Given the description of an element on the screen output the (x, y) to click on. 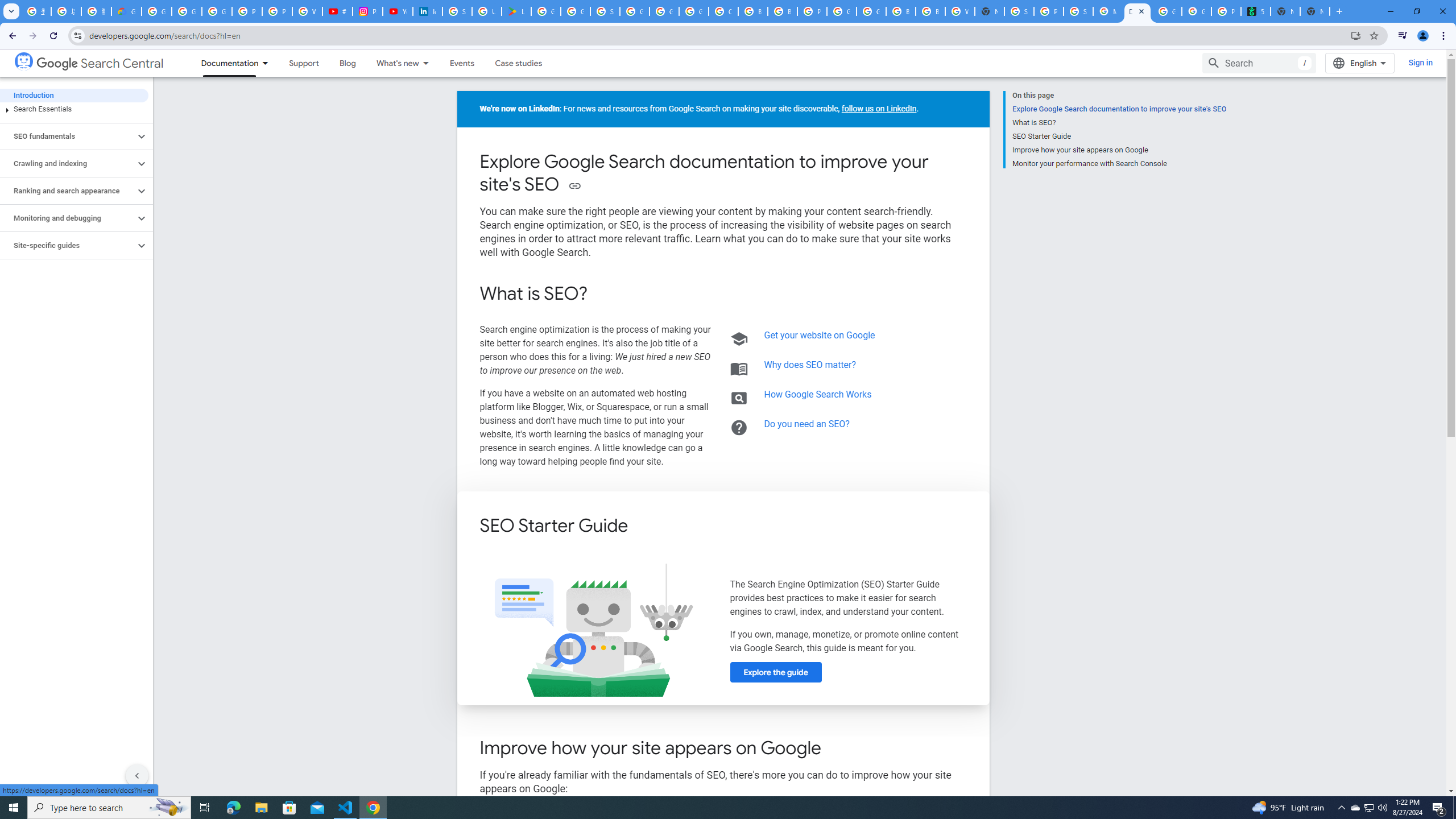
SEO Starter Guide (1118, 136)
Hide side navigation (136, 775)
Improve how your site appears on Google (1118, 150)
follow us on LinkedIn (879, 108)
Why does SEO matter? (810, 364)
Ranking and search appearance (67, 191)
SEO fundamentals (67, 136)
Dropdown menu for Documentation (268, 62)
Crawling and indexing (67, 163)
